Given the description of an element on the screen output the (x, y) to click on. 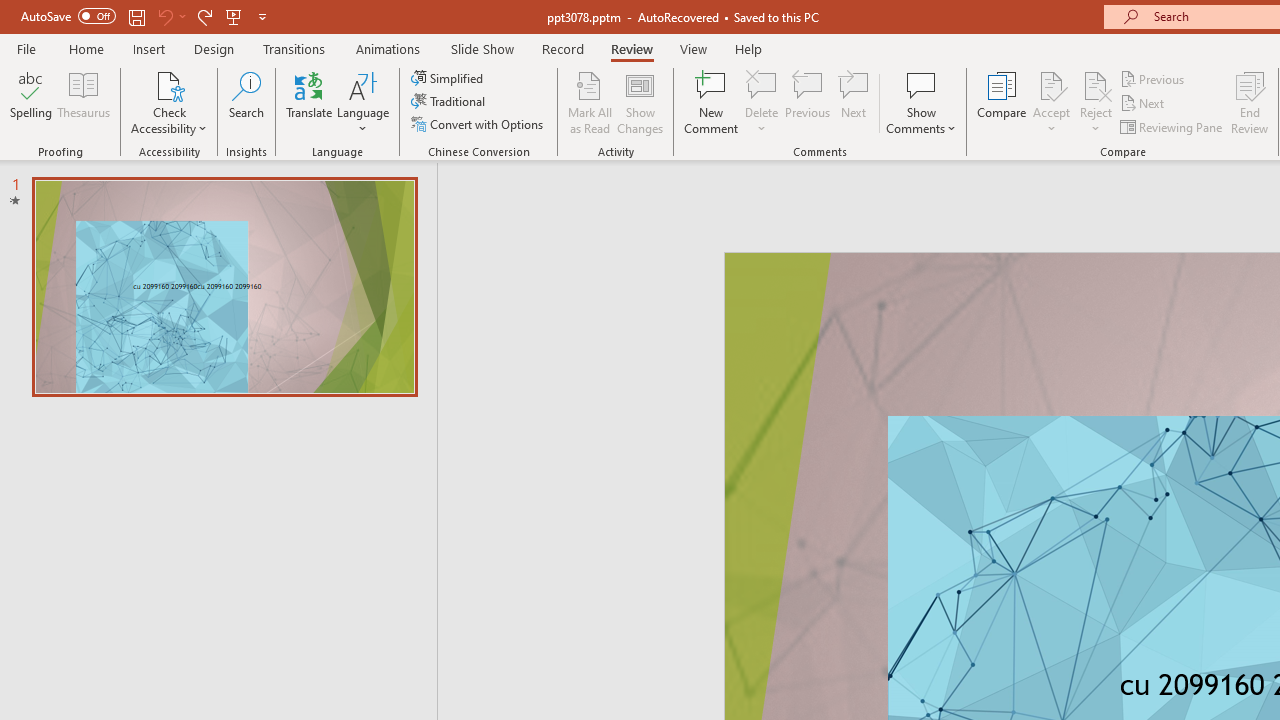
Traditional (449, 101)
Reviewing Pane (1172, 126)
Accept Change (1051, 84)
Reject (1096, 102)
Accept (1051, 102)
Convert with Options... (479, 124)
